Given the description of an element on the screen output the (x, y) to click on. 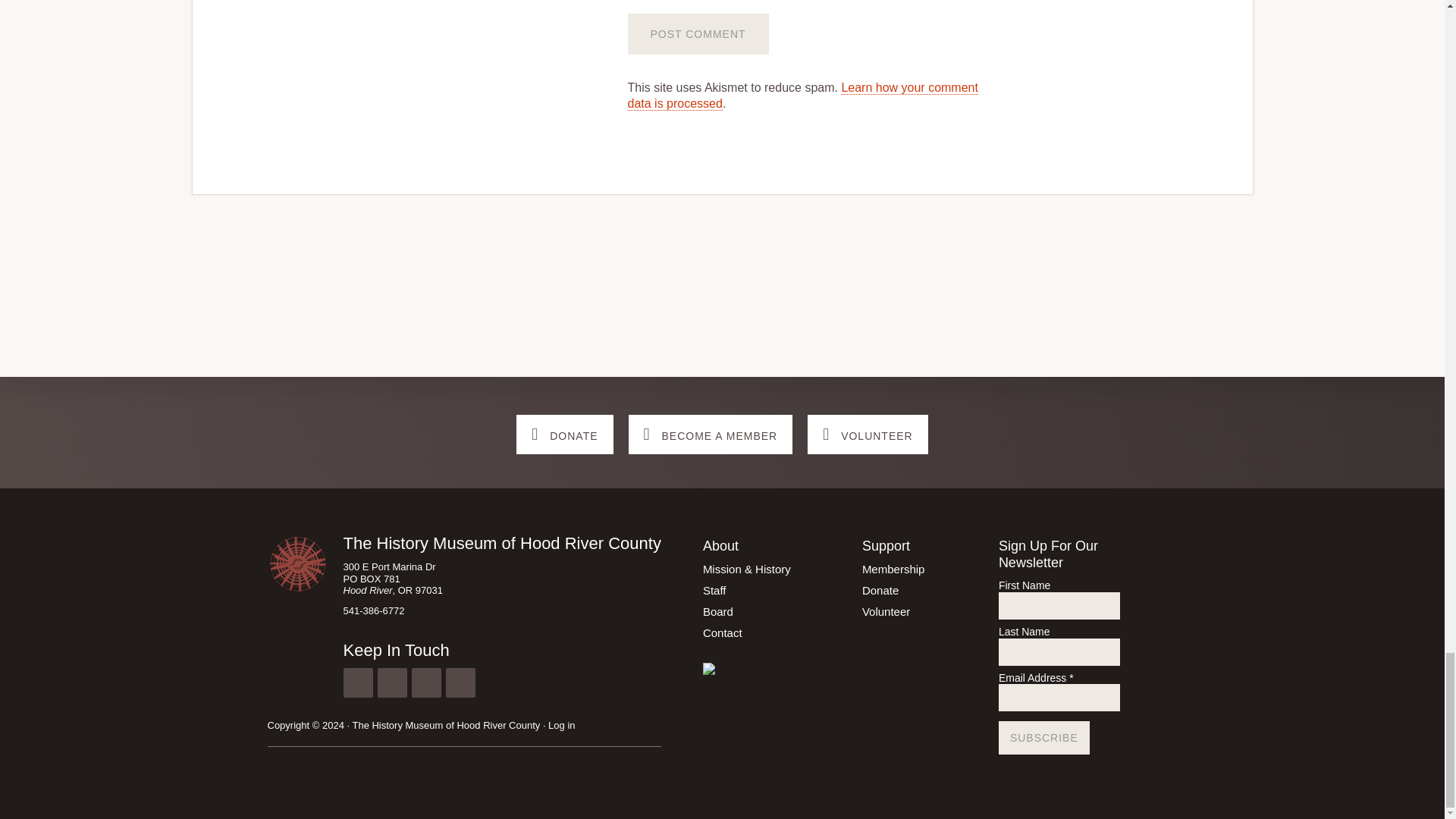
Post Comment (697, 33)
